Given the description of an element on the screen output the (x, y) to click on. 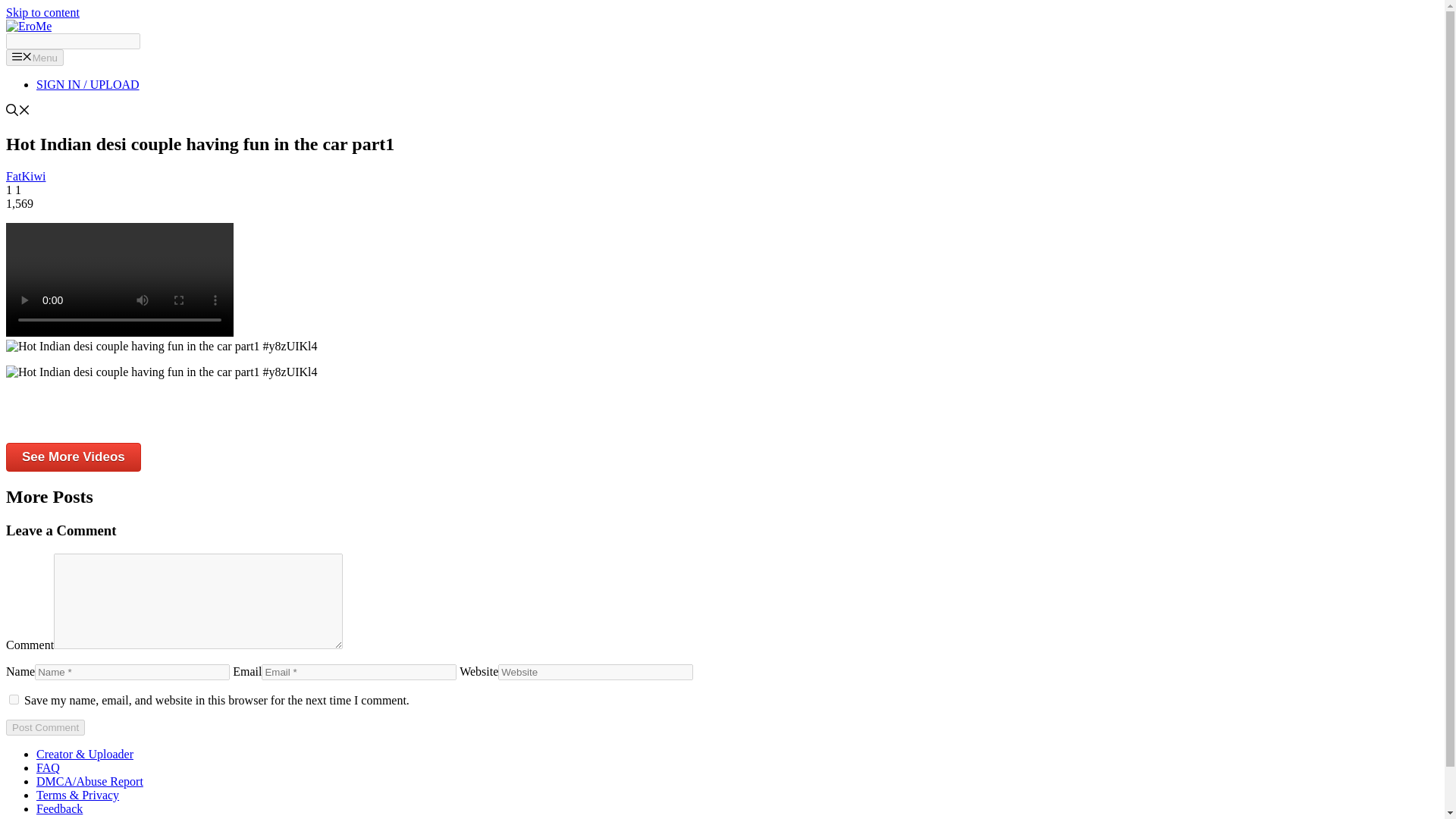
Menu (34, 57)
dfmi9iex-1 (118, 279)
Feedback (59, 808)
Post Comment (44, 727)
yes (13, 699)
EroMe (27, 26)
FatKiwi (25, 175)
Search (72, 41)
Skip to content (42, 11)
EroMe (27, 25)
See More Videos (73, 457)
Skip to content (42, 11)
Post Comment (44, 727)
FAQ (47, 767)
y8zuikl4 (161, 345)
